Given the description of an element on the screen output the (x, y) to click on. 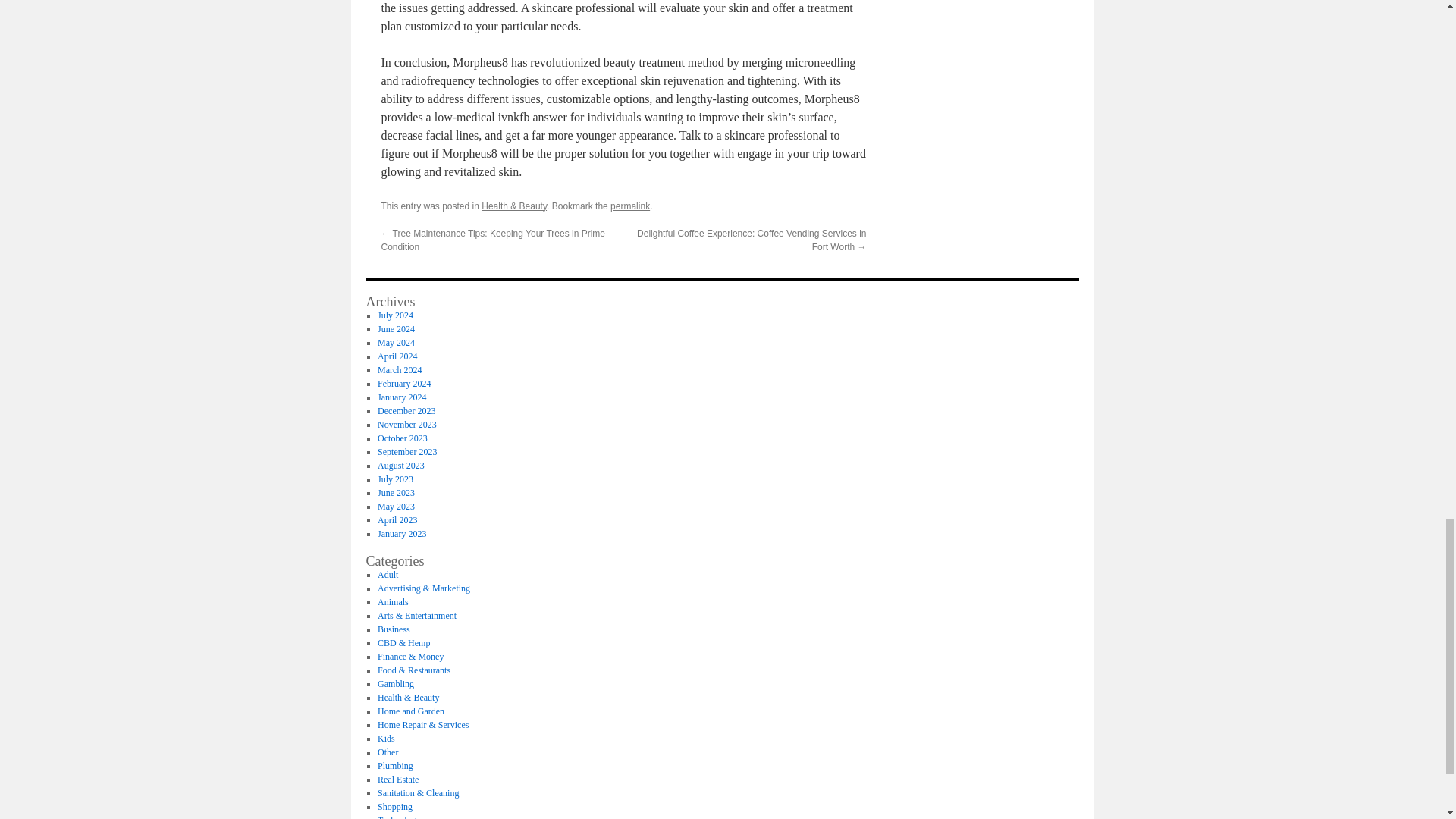
April 2023 (396, 520)
Animals (393, 602)
June 2023 (395, 492)
July 2023 (395, 479)
Adult (387, 574)
June 2024 (395, 328)
September 2023 (406, 451)
October 2023 (402, 438)
February 2024 (403, 383)
May 2023 (395, 506)
March 2024 (399, 369)
November 2023 (406, 424)
May 2024 (395, 342)
January 2023 (401, 533)
